Given the description of an element on the screen output the (x, y) to click on. 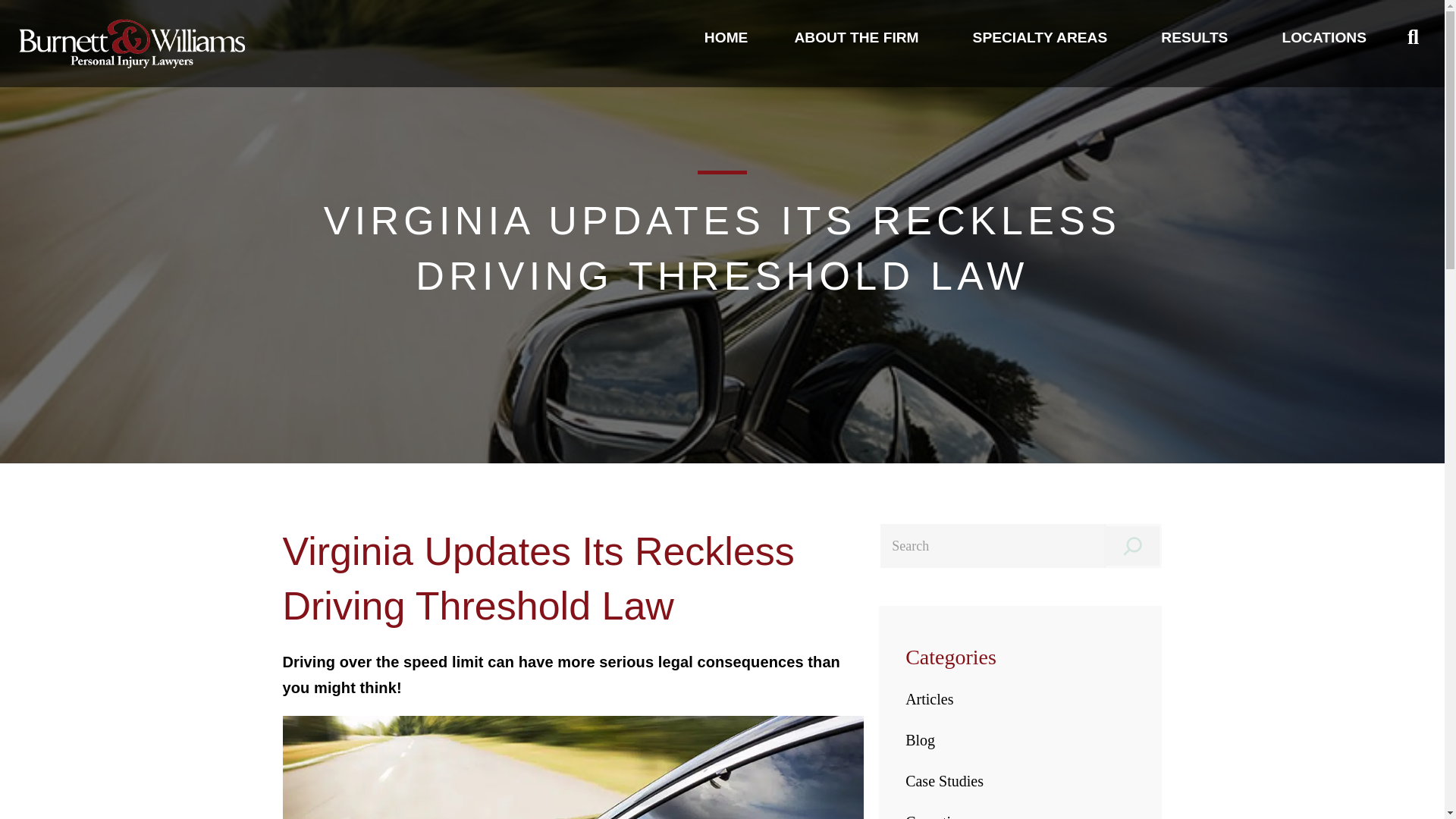
LOCATIONS (1324, 37)
RESULTS (1197, 37)
HOME (726, 37)
Blog (919, 740)
Articles (929, 699)
ABOUT THE FIRM (860, 37)
Causation (935, 816)
SPECIALTY AREAS (1044, 37)
Case Studies (944, 781)
